Given the description of an element on the screen output the (x, y) to click on. 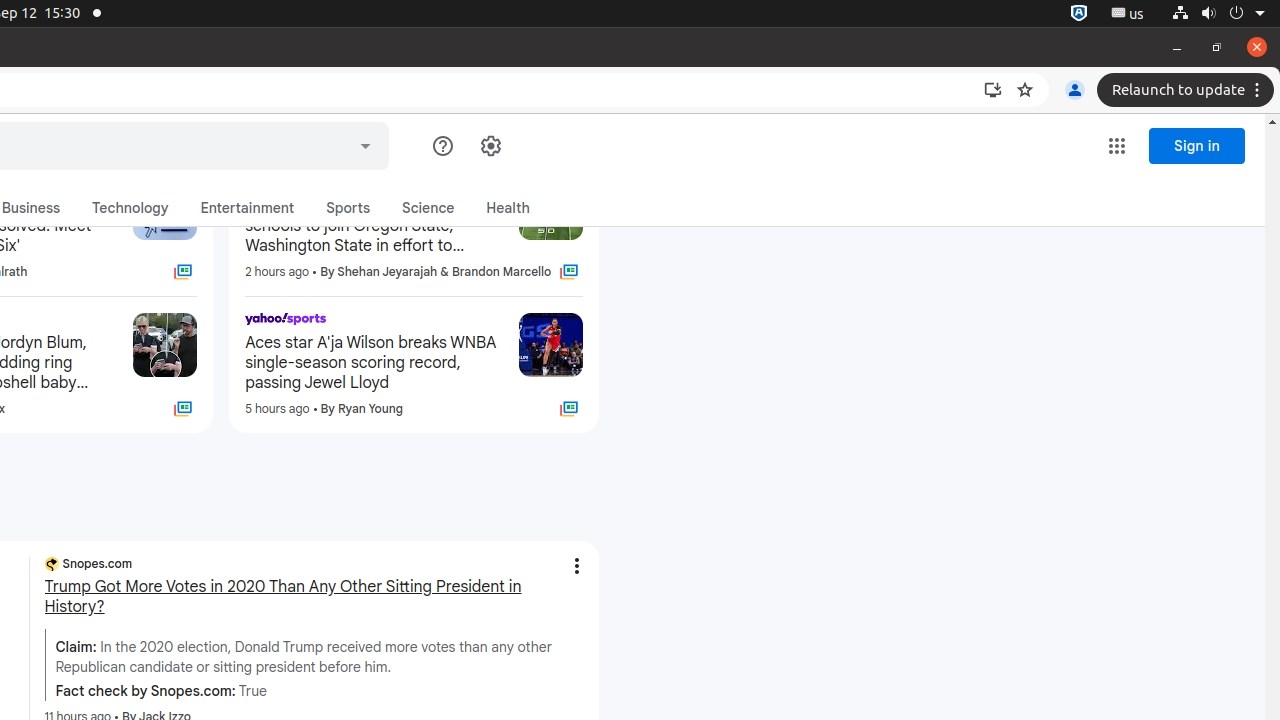
Sign in Element type: link (1197, 146)
Full Coverage Element type: link (568, 409)
Settings Element type: push-button (490, 146)
Science Element type: menu-item (428, 208)
Entertainment Element type: menu-item (247, 208)
